Given the description of an element on the screen output the (x, y) to click on. 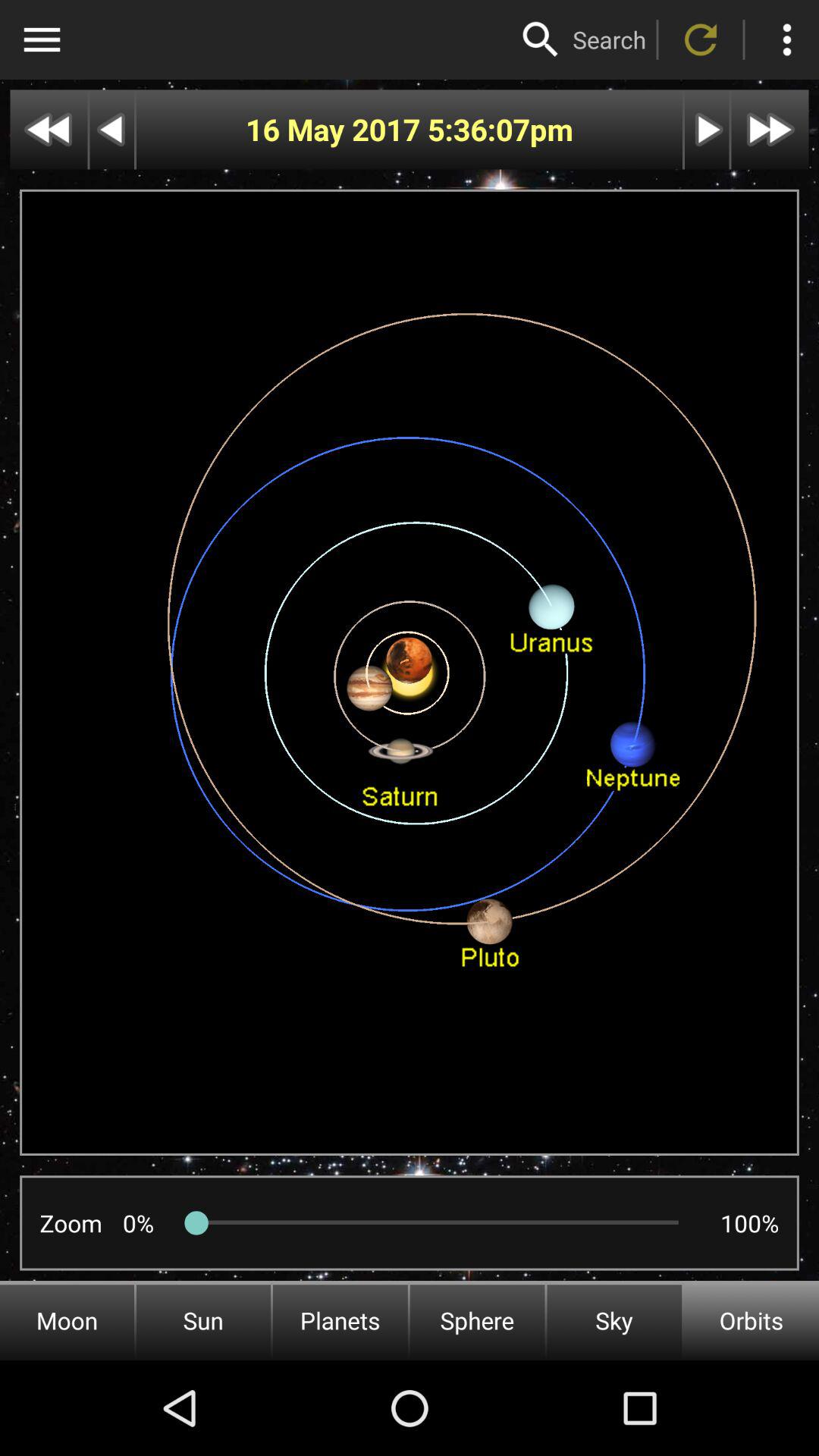
open the icon above the 5:36:07 icon (540, 39)
